Given the description of an element on the screen output the (x, y) to click on. 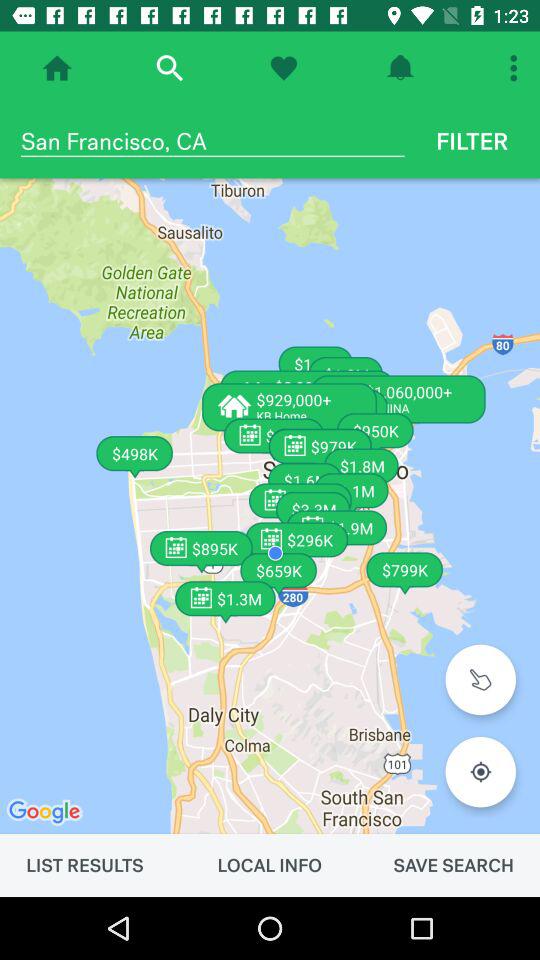
choose item to the left of the save search (269, 865)
